Given the description of an element on the screen output the (x, y) to click on. 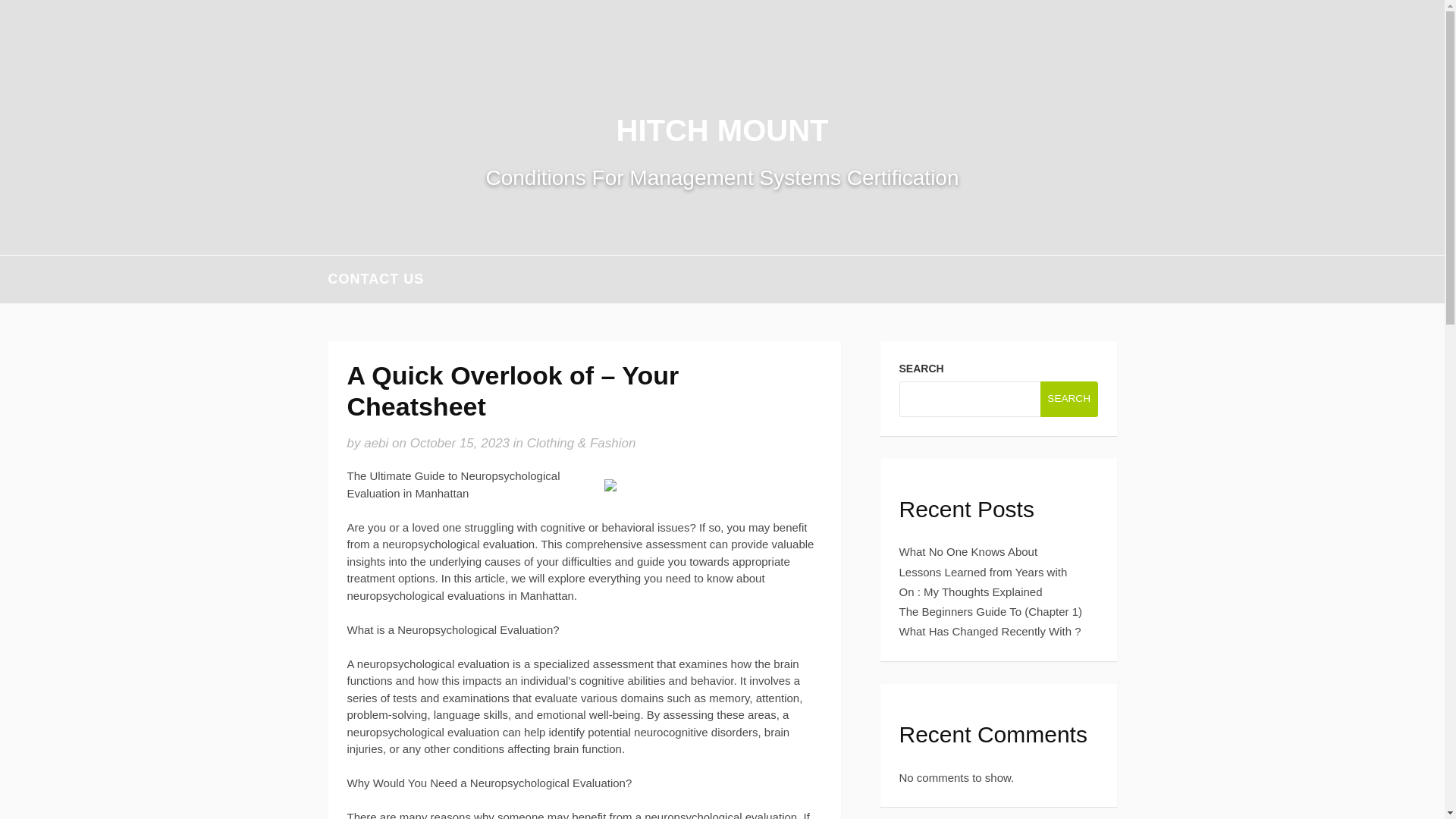
October 15, 2023 (459, 442)
SEARCH (1069, 398)
On : My Thoughts Explained (970, 591)
aebi (376, 442)
Lessons Learned from Years with (983, 571)
What No One Knows About (968, 551)
What Has Changed Recently With ? (990, 631)
CONTACT US (375, 279)
HITCH MOUNT (721, 130)
